Given the description of an element on the screen output the (x, y) to click on. 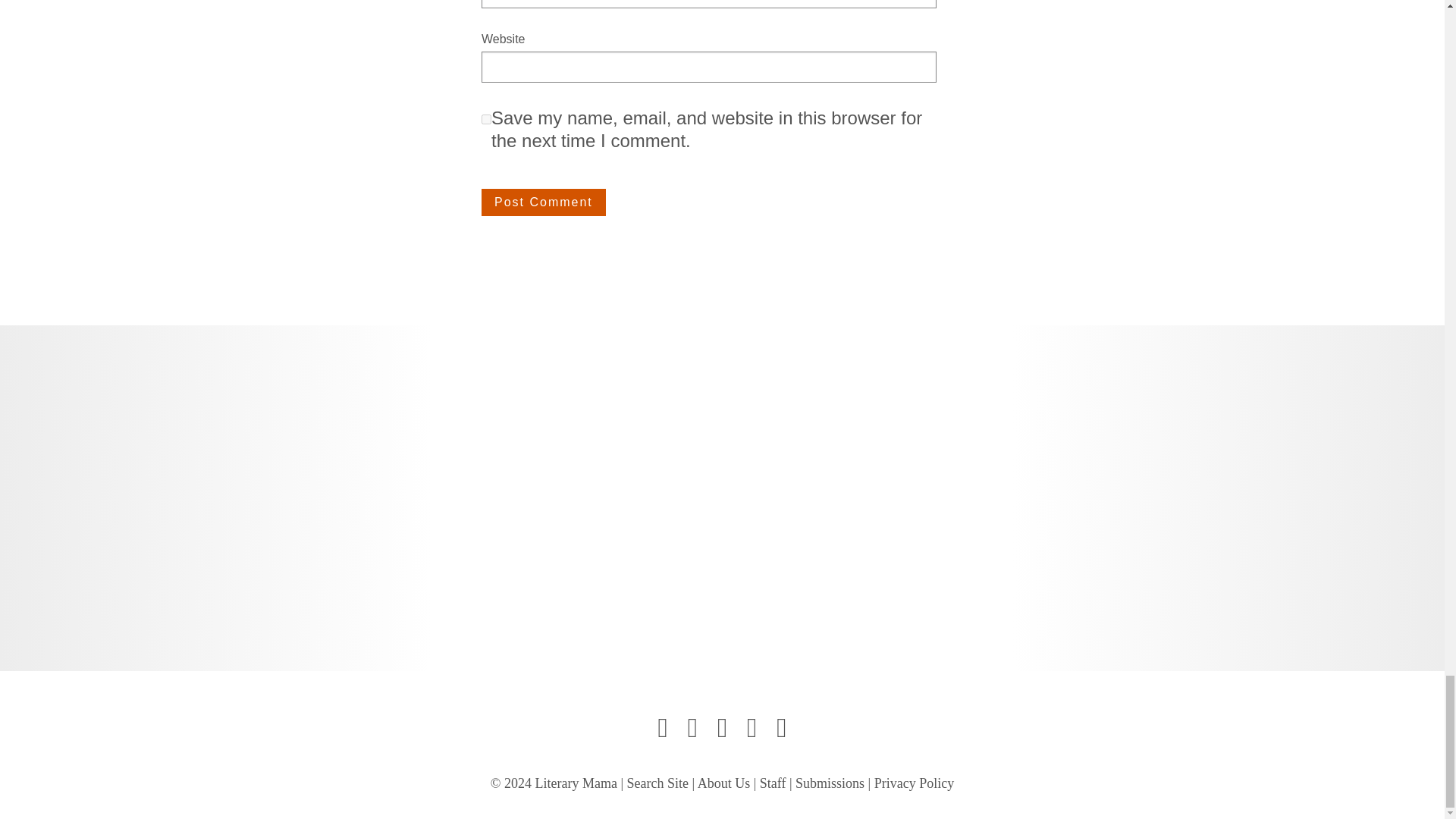
yes (486, 119)
Search Site (657, 783)
About Us (724, 783)
Post Comment (543, 202)
Post Comment (543, 202)
